Given the description of an element on the screen output the (x, y) to click on. 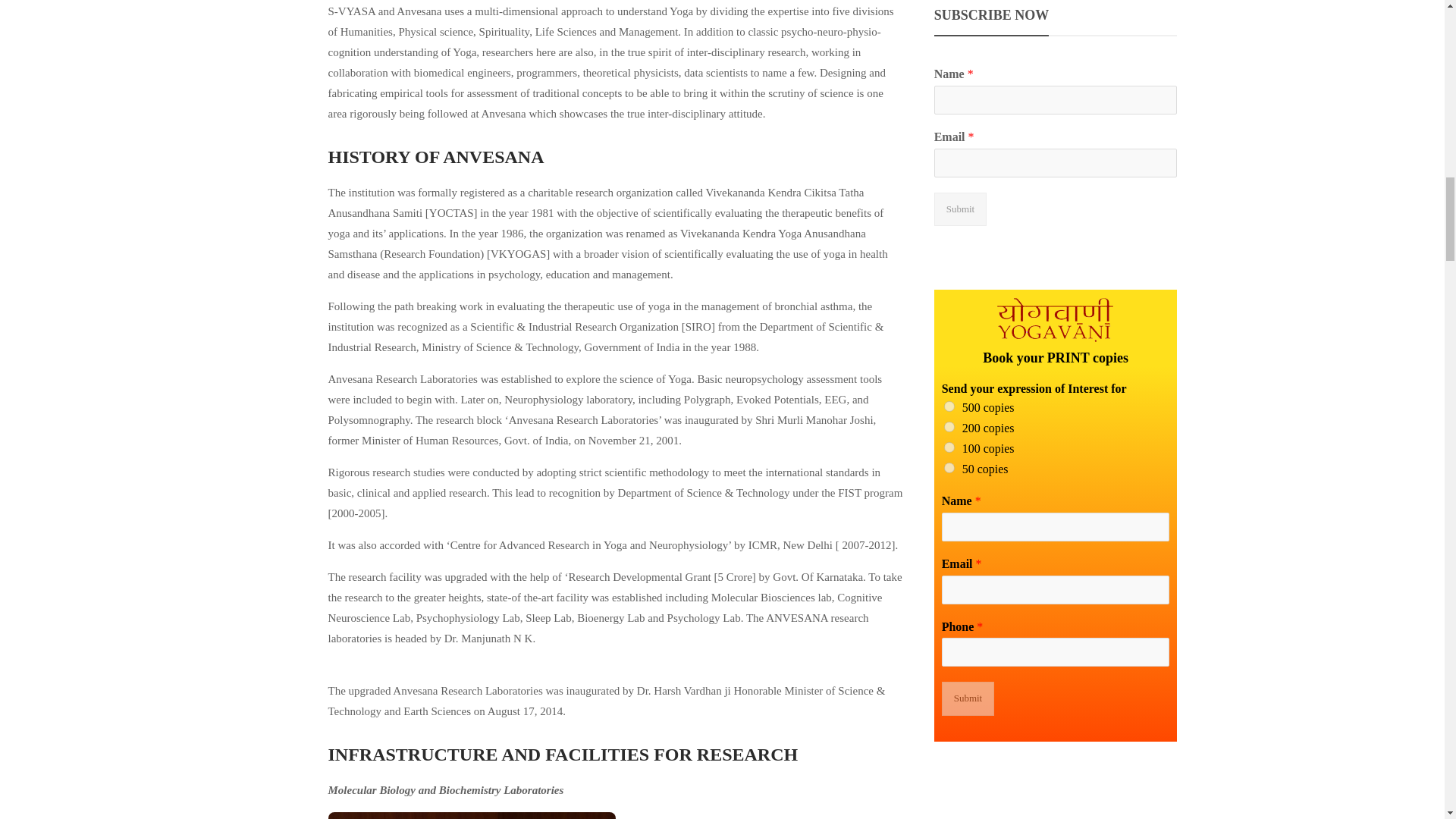
4 (949, 467)
1 (949, 406)
3 (949, 447)
2 (949, 426)
